Given the description of an element on the screen output the (x, y) to click on. 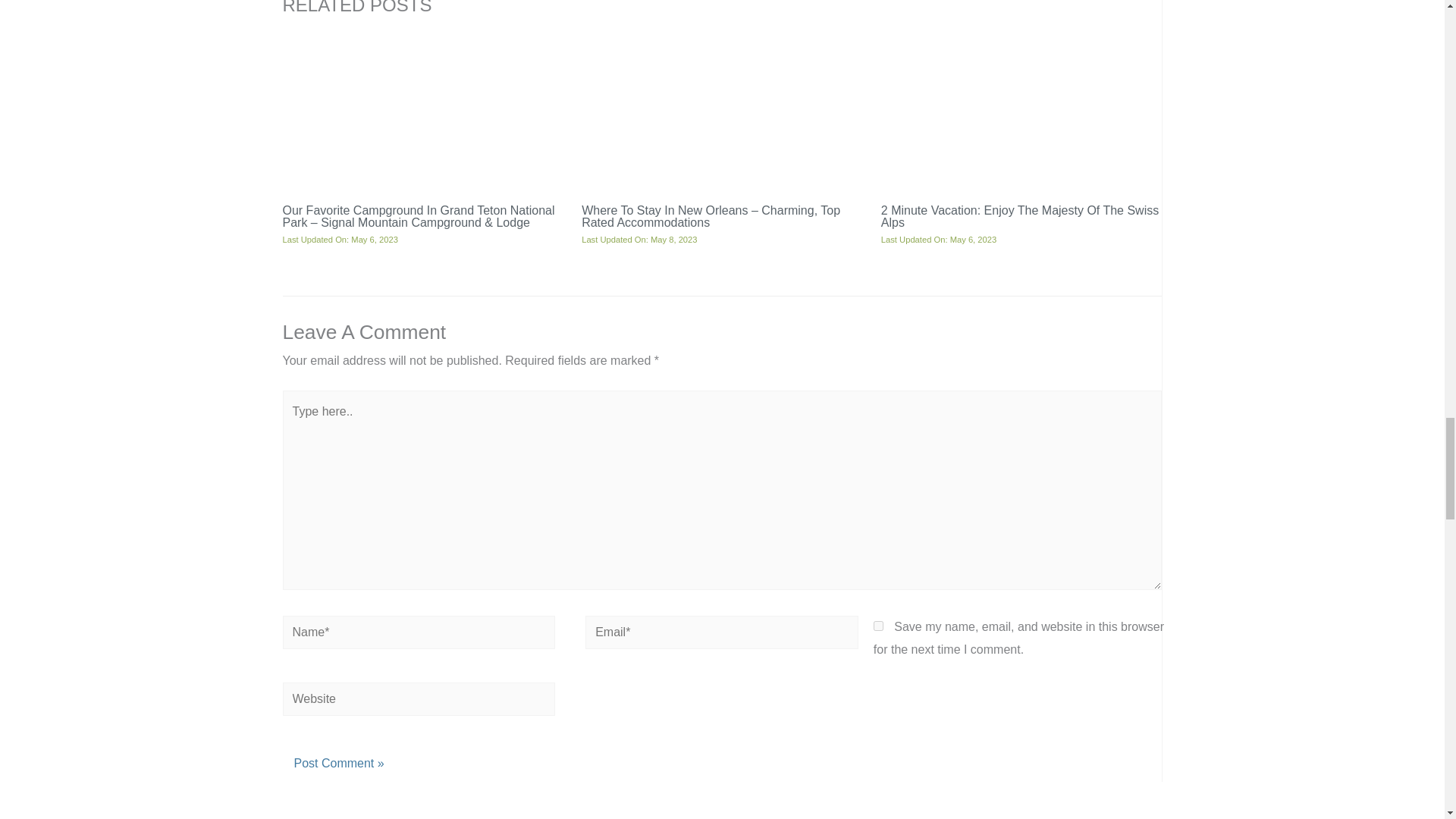
yes (878, 625)
